Given the description of an element on the screen output the (x, y) to click on. 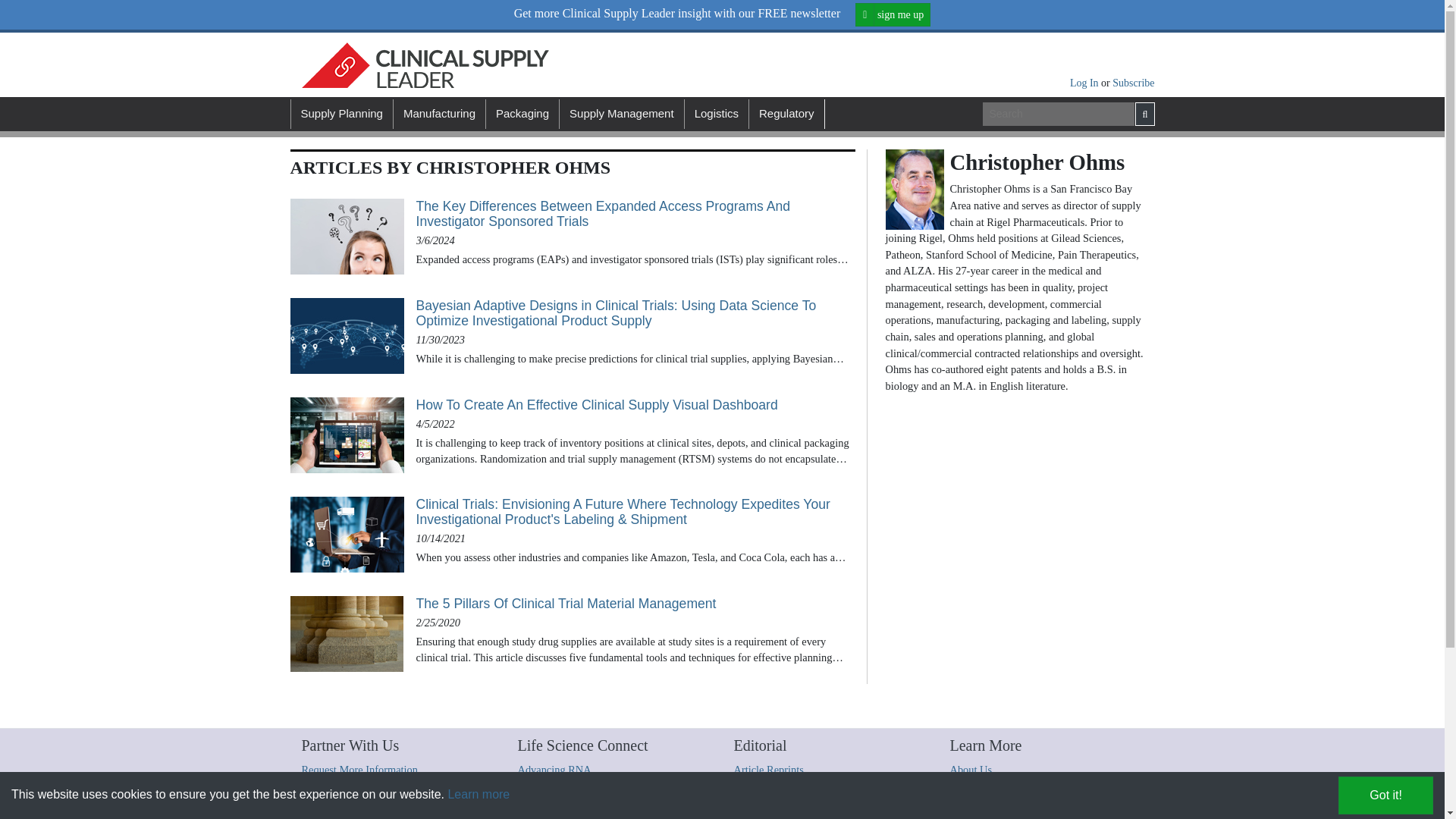
The 5 Pillars Of Clinical Trial Material Management (346, 633)
How To Create An Effective Clinical Supply Visual Dashboard (634, 404)
Supply Planning (340, 113)
Subscribe (1133, 82)
Got it! (1385, 795)
Manufacturing (438, 113)
Regulatory (786, 113)
The 5 Pillars Of Clinical Trial Material Management (634, 603)
Biosimilar Development (570, 802)
